Given the description of an element on the screen output the (x, y) to click on. 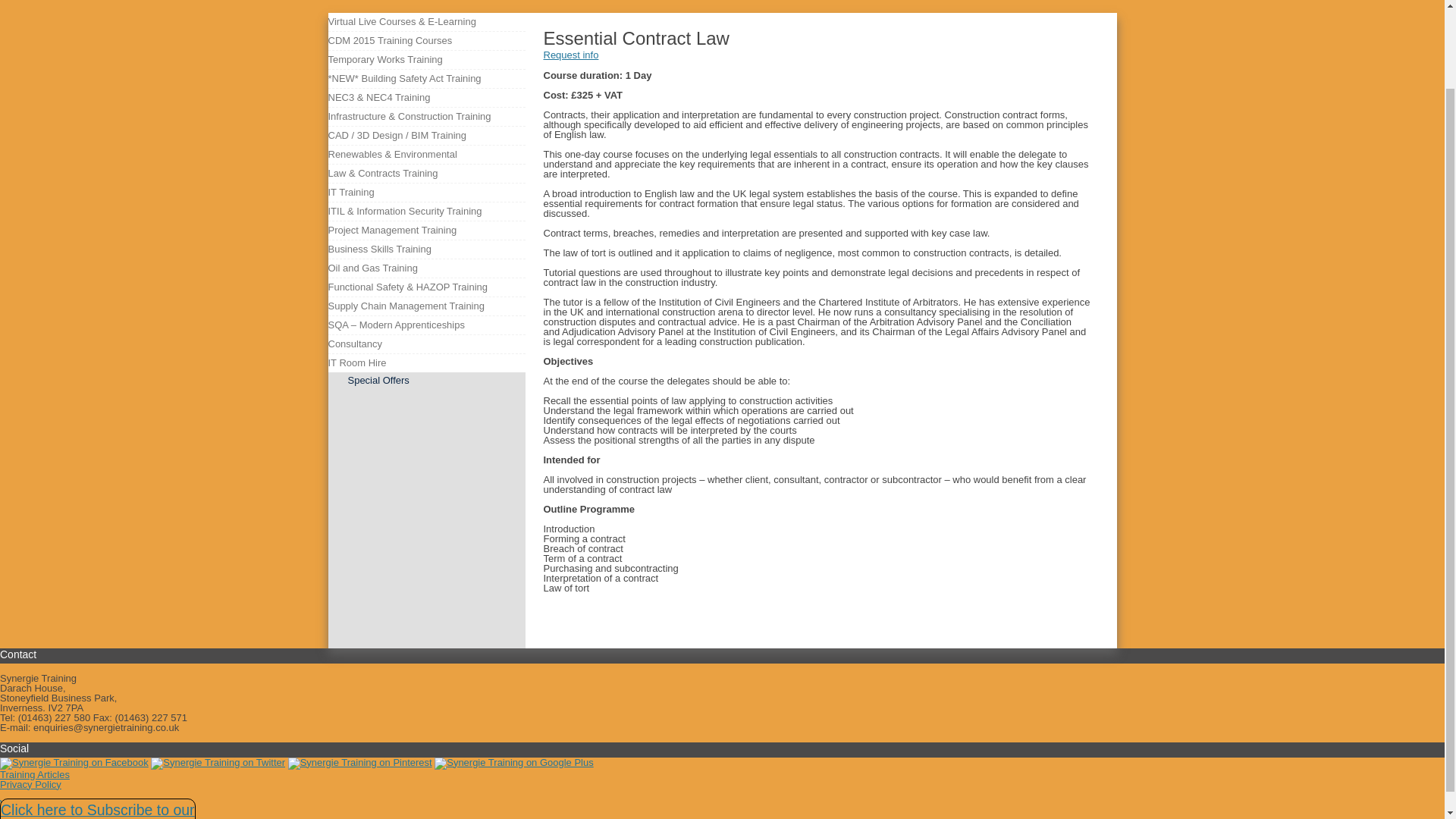
IT Training (350, 192)
Request info (570, 54)
Synergie Training on Twitter (218, 761)
Privacy Policy (30, 784)
Training Articles (34, 773)
Special Offers (378, 379)
Supply Chain Management Training (405, 306)
CDM 2015 Training Courses (389, 40)
Oil and Gas Training (371, 268)
IT Room Hire (356, 362)
Synergie Training on Facebook (74, 761)
Synergie Training on Google Plus (512, 761)
Project Management Training (392, 230)
Consultancy (354, 343)
Synergie Training on Pinterest (360, 761)
